Given the description of an element on the screen output the (x, y) to click on. 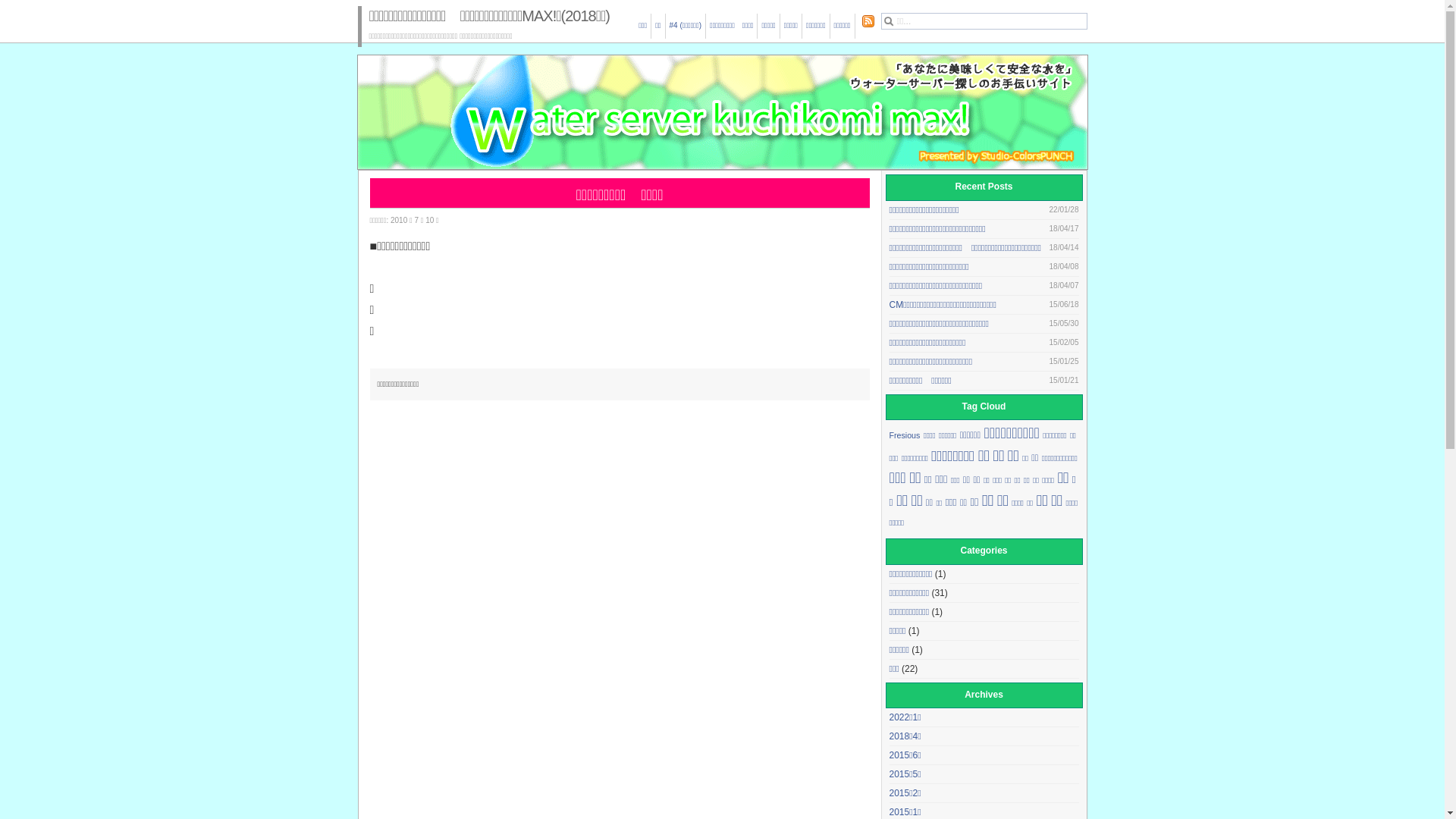
Fresious Element type: text (903, 434)
